Given the description of an element on the screen output the (x, y) to click on. 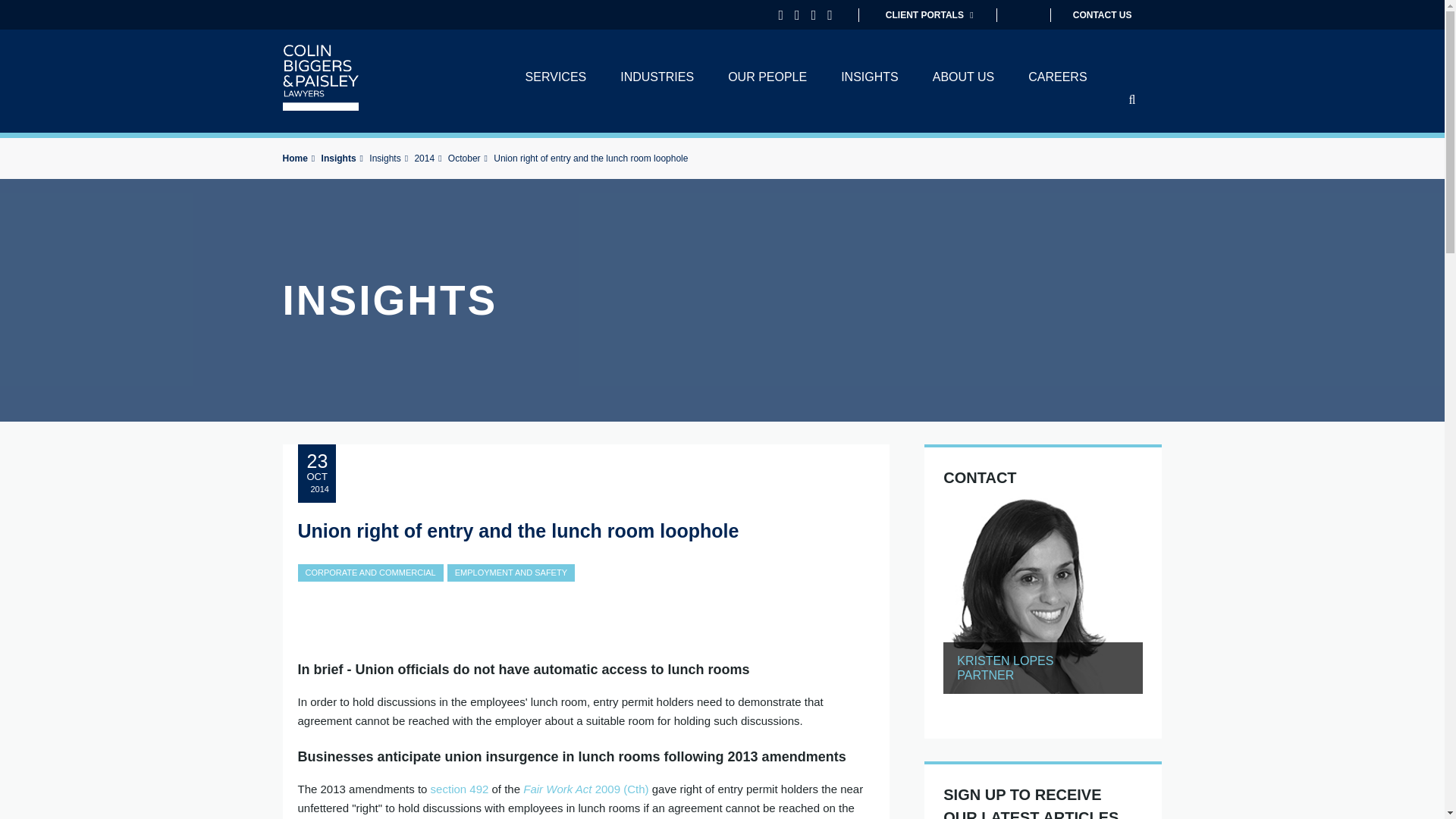
CONTACT US (1090, 14)
INDUSTRIES (657, 77)
CLIENT PORTALS (924, 14)
SERVICES (555, 77)
